Given the description of an element on the screen output the (x, y) to click on. 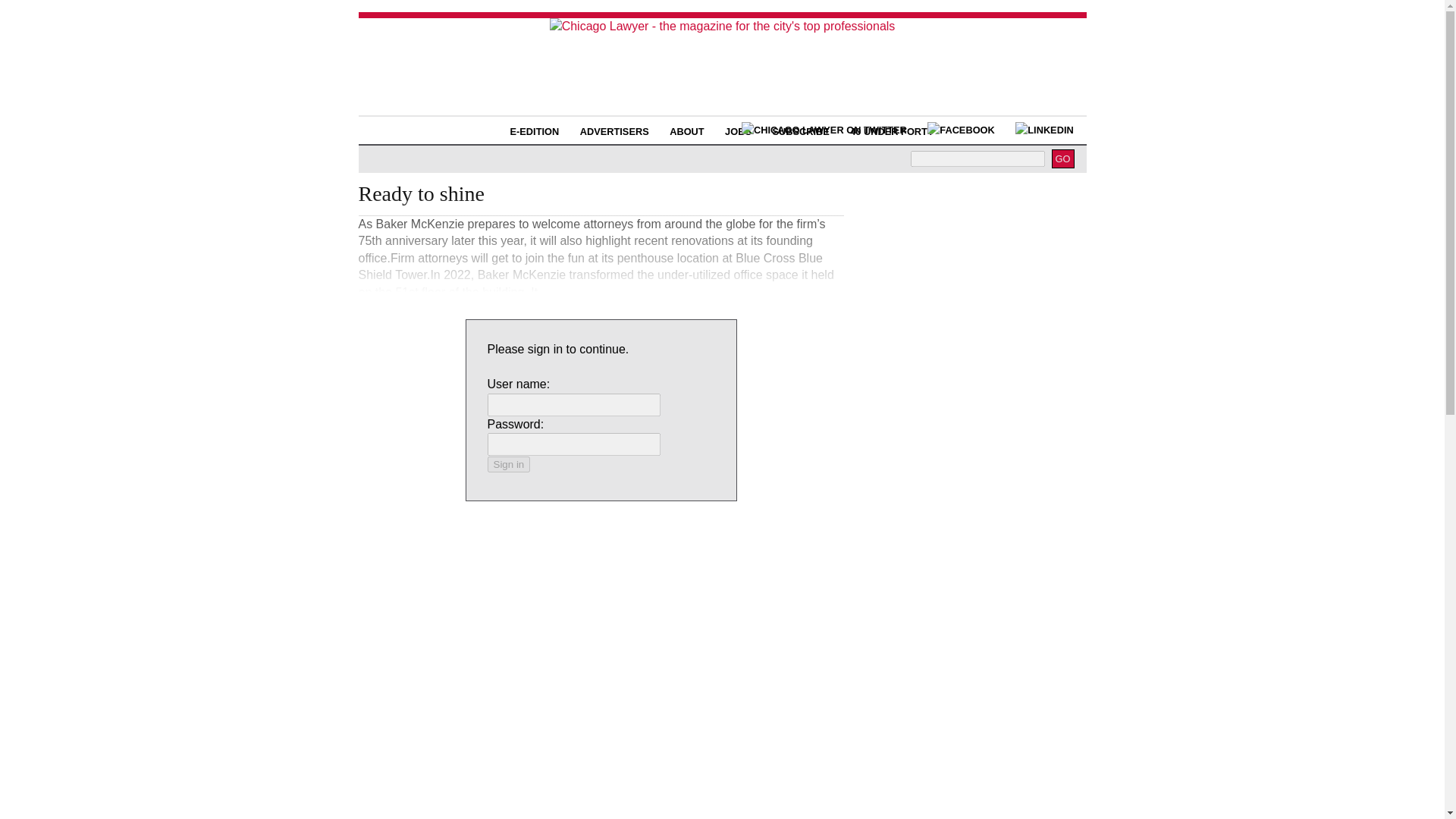
Sign in (507, 464)
ABOUT (687, 131)
E-EDITION (534, 131)
Sign in (507, 464)
ADVERTISERS (614, 131)
